Given the description of an element on the screen output the (x, y) to click on. 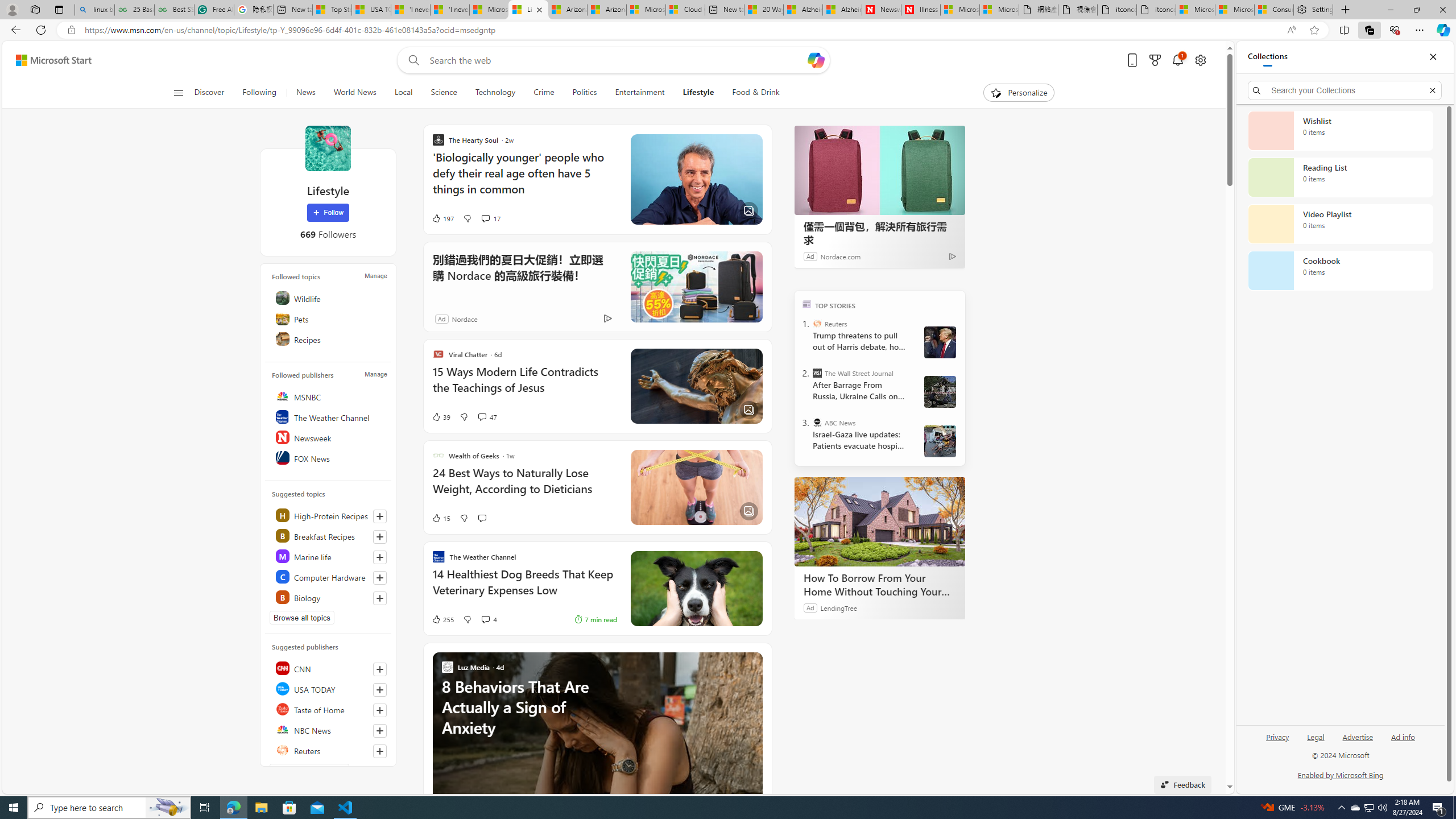
Follow (328, 212)
Following (259, 92)
Notifications (1177, 60)
View comments 17 Comment (490, 218)
Cookbook collection, 0 items (1339, 270)
New tab (724, 9)
New Tab (1346, 9)
Exit search (1432, 90)
Web search (411, 60)
25 Basic Linux Commands For Beginners - GeeksforGeeks (133, 9)
App bar (728, 29)
See more (753, 660)
